Given the description of an element on the screen output the (x, y) to click on. 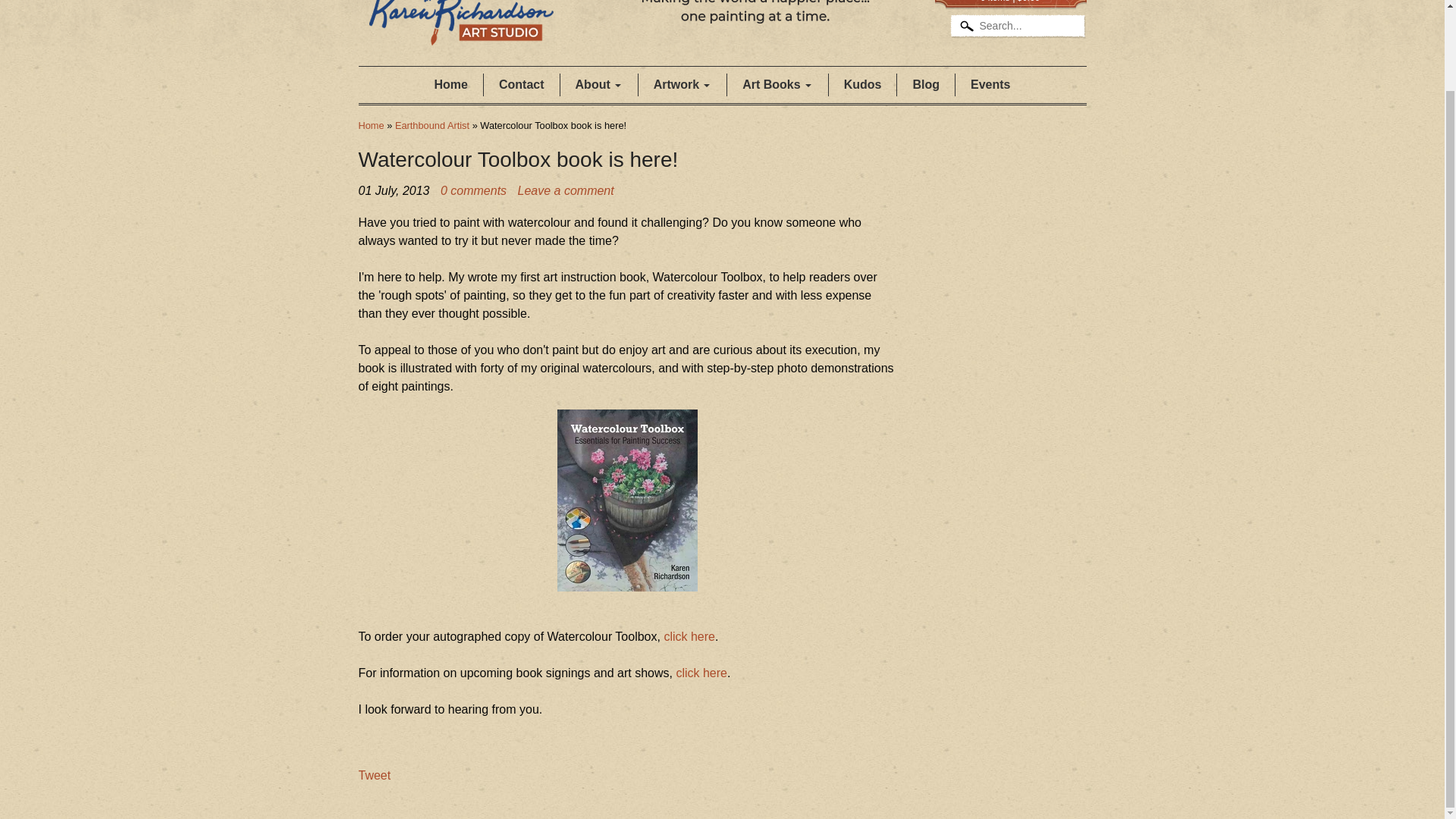
Artwork (682, 84)
Tweet (374, 775)
Home (451, 84)
Events (990, 84)
Order Watercolour Toolbox (688, 635)
click here (688, 635)
Home (371, 125)
click here (700, 672)
Blog (925, 84)
About (598, 84)
